Given the description of an element on the screen output the (x, y) to click on. 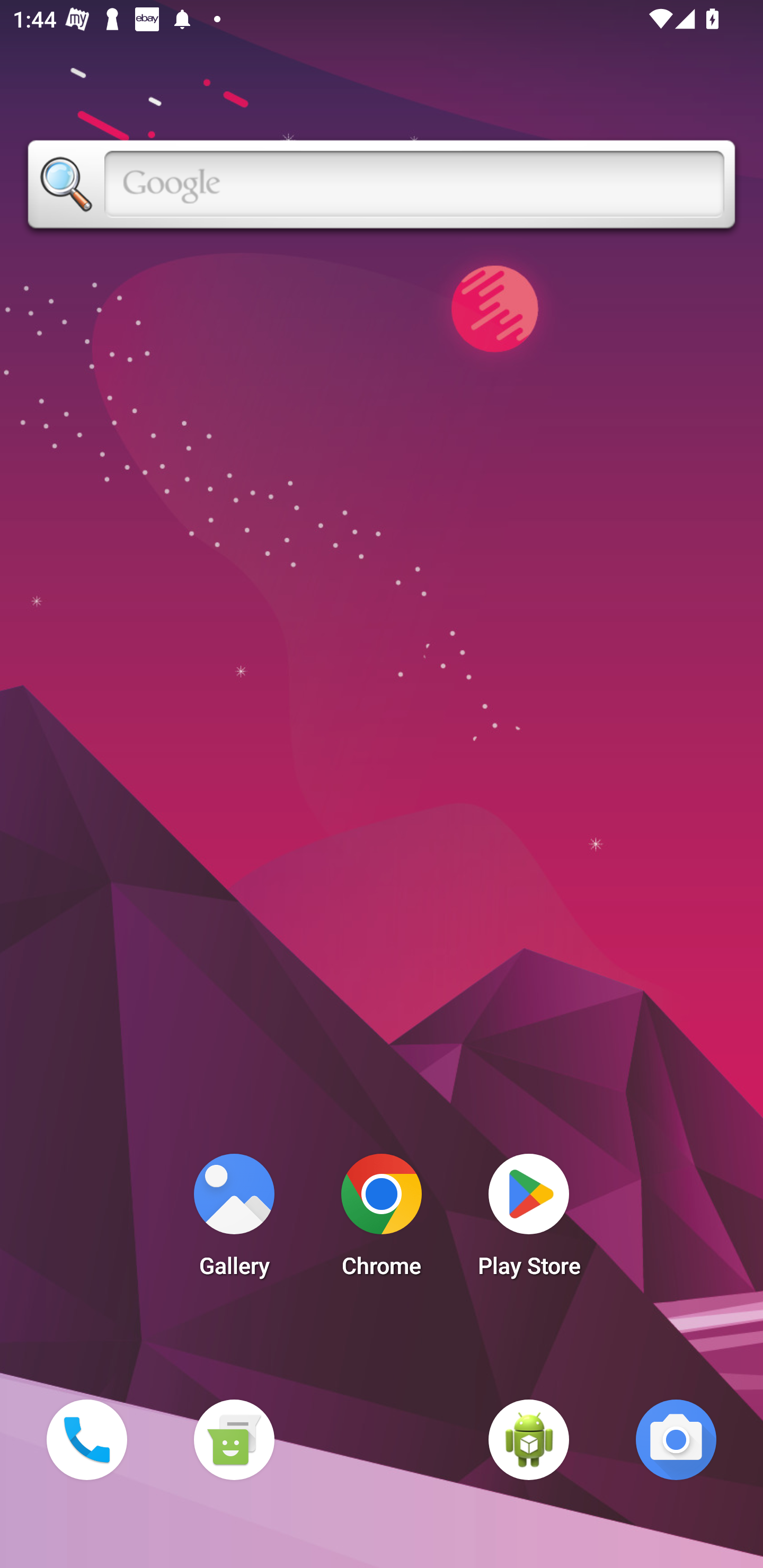
Gallery (233, 1220)
Chrome (381, 1220)
Play Store (528, 1220)
Phone (86, 1439)
Messaging (233, 1439)
WebView Browser Tester (528, 1439)
Camera (676, 1439)
